Given the description of an element on the screen output the (x, y) to click on. 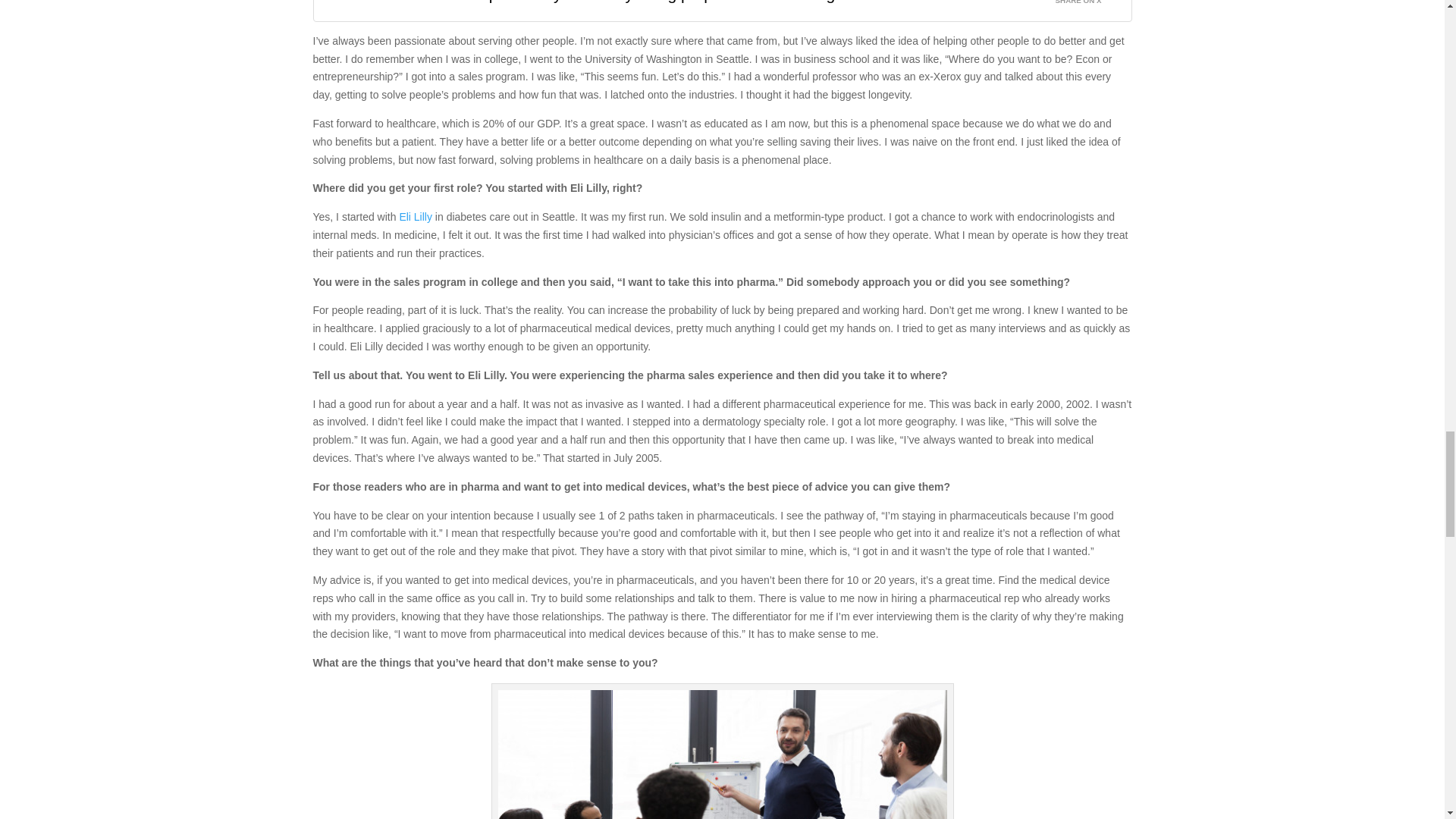
Eli Lilly (415, 216)
46MSPCaption2 - Evolve Your Success (721, 754)
SHARE ON X (1087, 4)
